Given the description of an element on the screen output the (x, y) to click on. 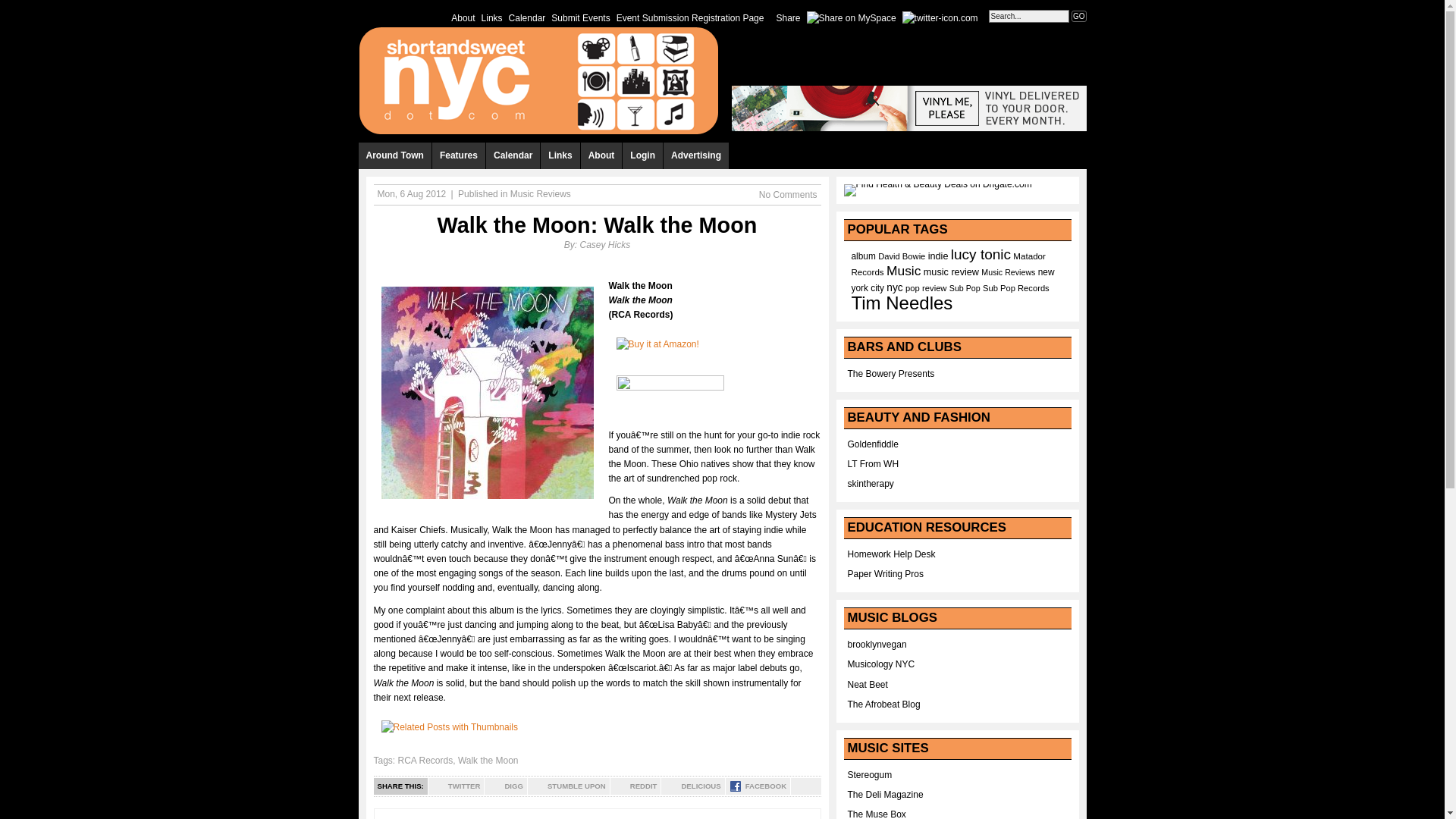
Share (788, 17)
Around Town (394, 155)
Calendar (513, 155)
GO (1078, 16)
Search... (1028, 15)
GO (1078, 16)
twitter-icon.com (940, 17)
Features (459, 155)
Homework Help Desk (891, 553)
Submit Events (580, 17)
Comment on Walk the Moon:  Walk the Moon (787, 194)
About (462, 17)
Calendar (526, 17)
Event Submission Registration Page (689, 17)
Paper Writing Pros (885, 573)
